Given the description of an element on the screen output the (x, y) to click on. 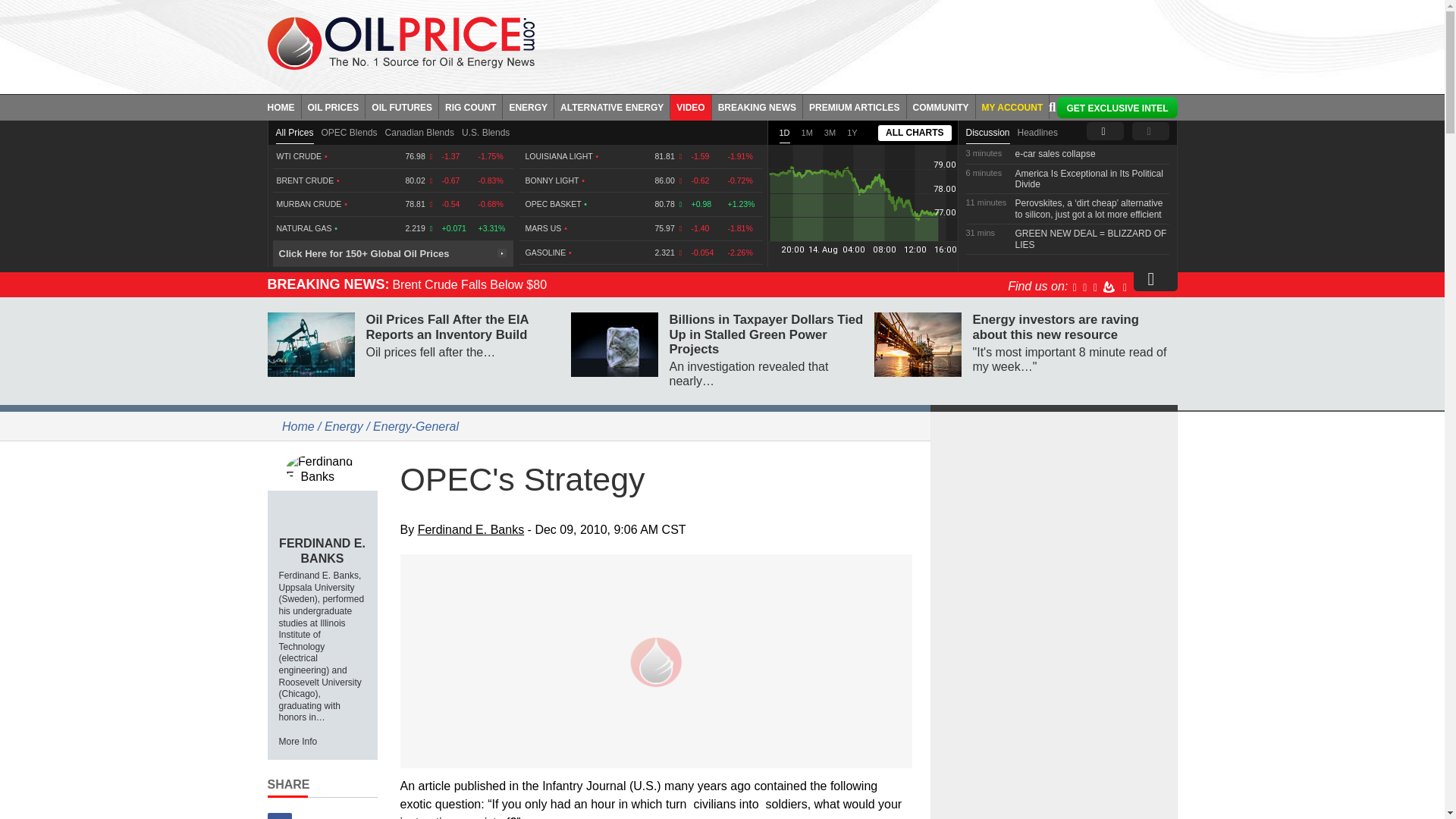
COMMUNITY (941, 106)
Oil prices - Oilprice.com (400, 42)
VIDEO (690, 106)
BREAKING NEWS (757, 106)
HOME (283, 106)
PREMIUM ARTICLES (855, 106)
RIG COUNT (470, 106)
OIL FUTURES (402, 106)
ENERGY (528, 106)
